Given the description of an element on the screen output the (x, y) to click on. 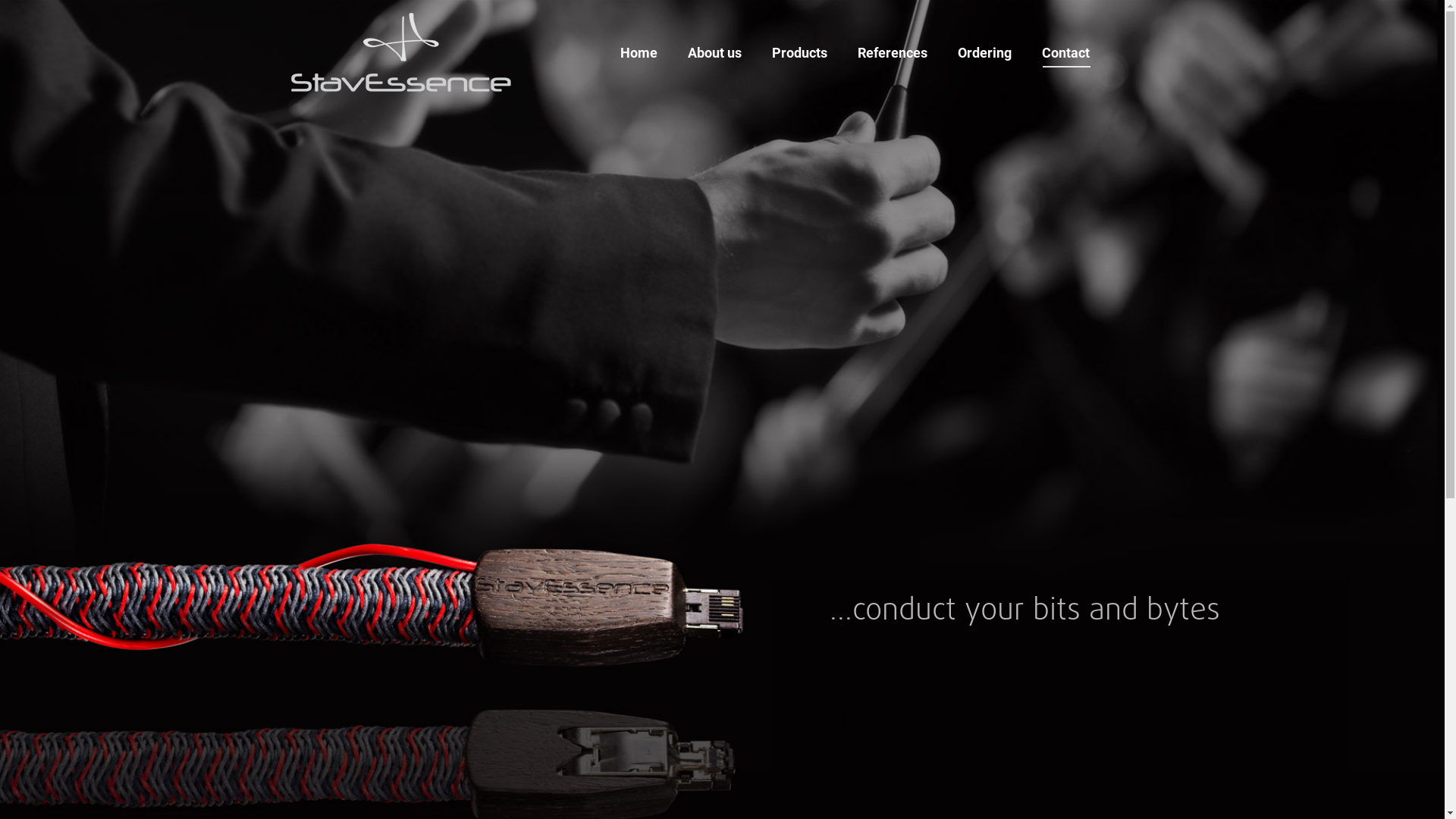
Products Element type: text (799, 52)
About us Element type: text (714, 52)
Home Element type: text (638, 52)
References Element type: text (892, 52)
Ordering Element type: text (984, 52)
Contact Element type: text (1065, 52)
